Given the description of an element on the screen output the (x, y) to click on. 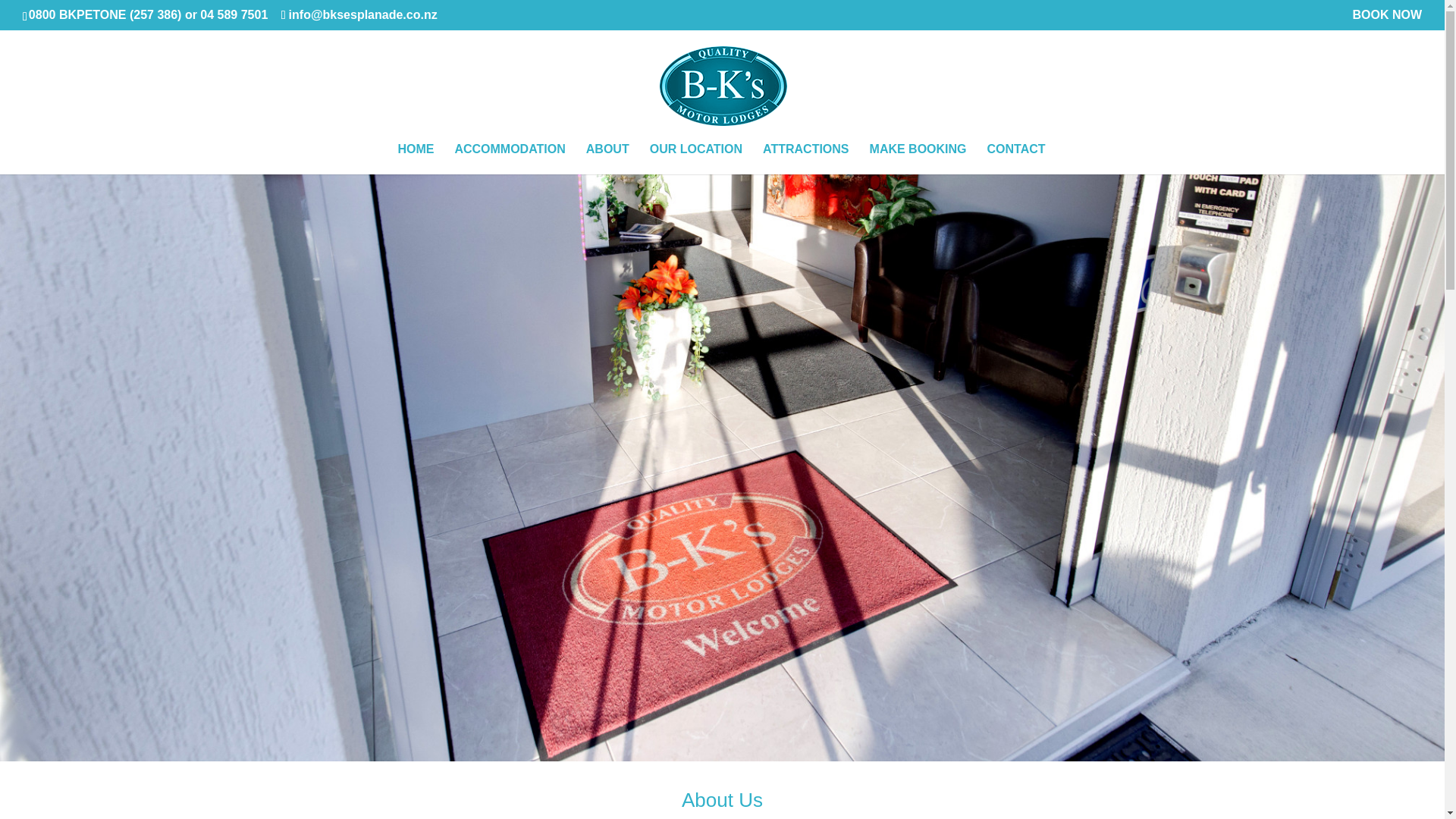
ABOUT (607, 159)
ACCOMMODATION (509, 159)
04 589 7501 (233, 14)
MAKE BOOKING (917, 159)
CONTACT (1016, 159)
HOME (415, 159)
BOOK NOW (1387, 19)
ATTRACTIONS (805, 159)
OUR LOCATION (695, 159)
